Given the description of an element on the screen output the (x, y) to click on. 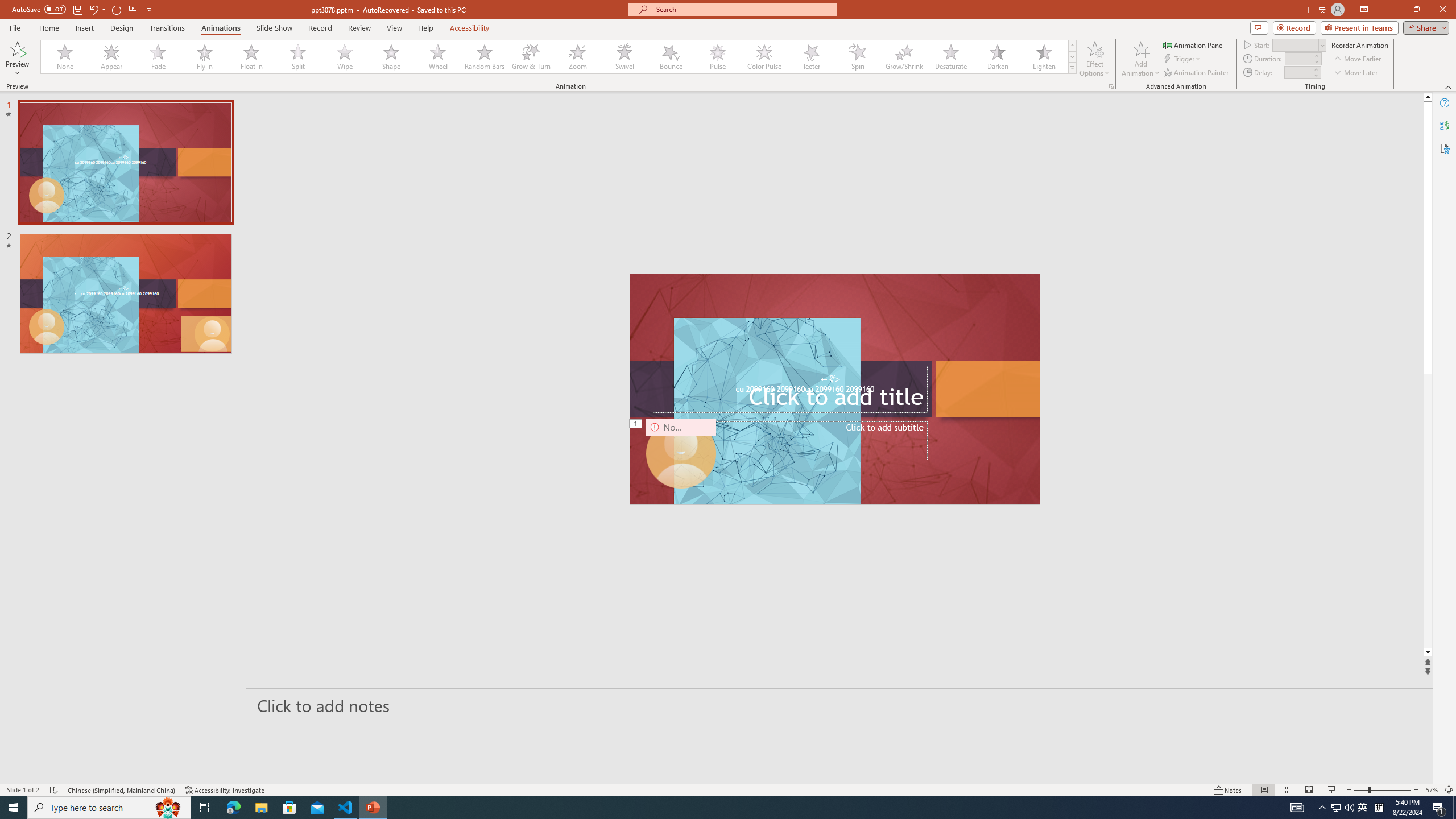
Appear (111, 56)
Teeter (810, 56)
Title TextBox (789, 389)
Wipe (344, 56)
TextBox 7 (830, 379)
AutomationID: AnimationGallery (558, 56)
Swivel (624, 56)
Trigger (1182, 58)
Move Earlier (1357, 58)
